Given the description of an element on the screen output the (x, y) to click on. 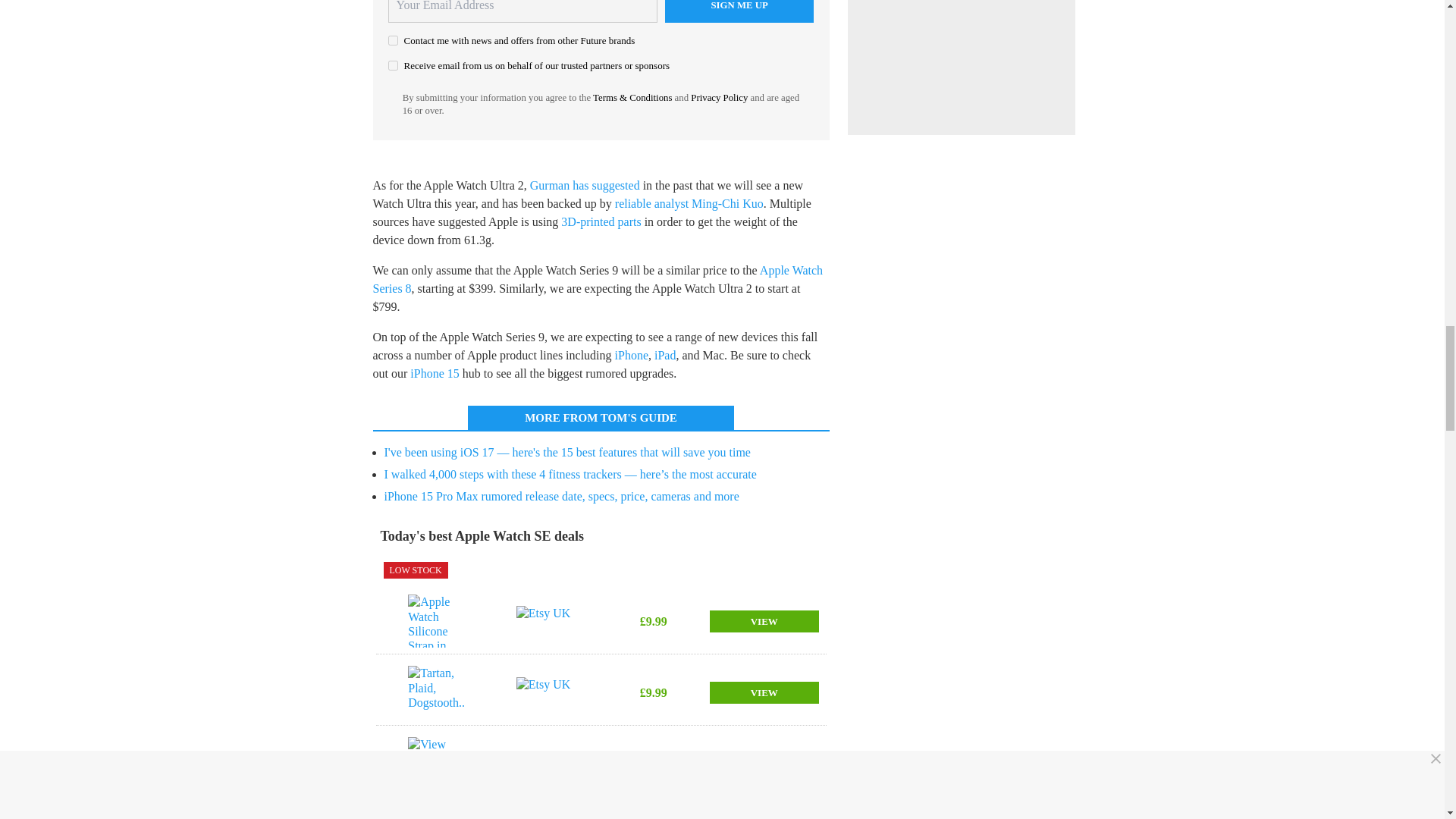
Tartan, Plaid, Dogstooth... (437, 692)
Etsy UK (546, 692)
View Similar Amazon US (437, 763)
on (392, 65)
Apple Watch Silicone Strap in... (437, 620)
Low Stock (416, 569)
on (392, 40)
Amazon (546, 763)
Etsy UK (546, 621)
Sign me up (739, 11)
